Given the description of an element on the screen output the (x, y) to click on. 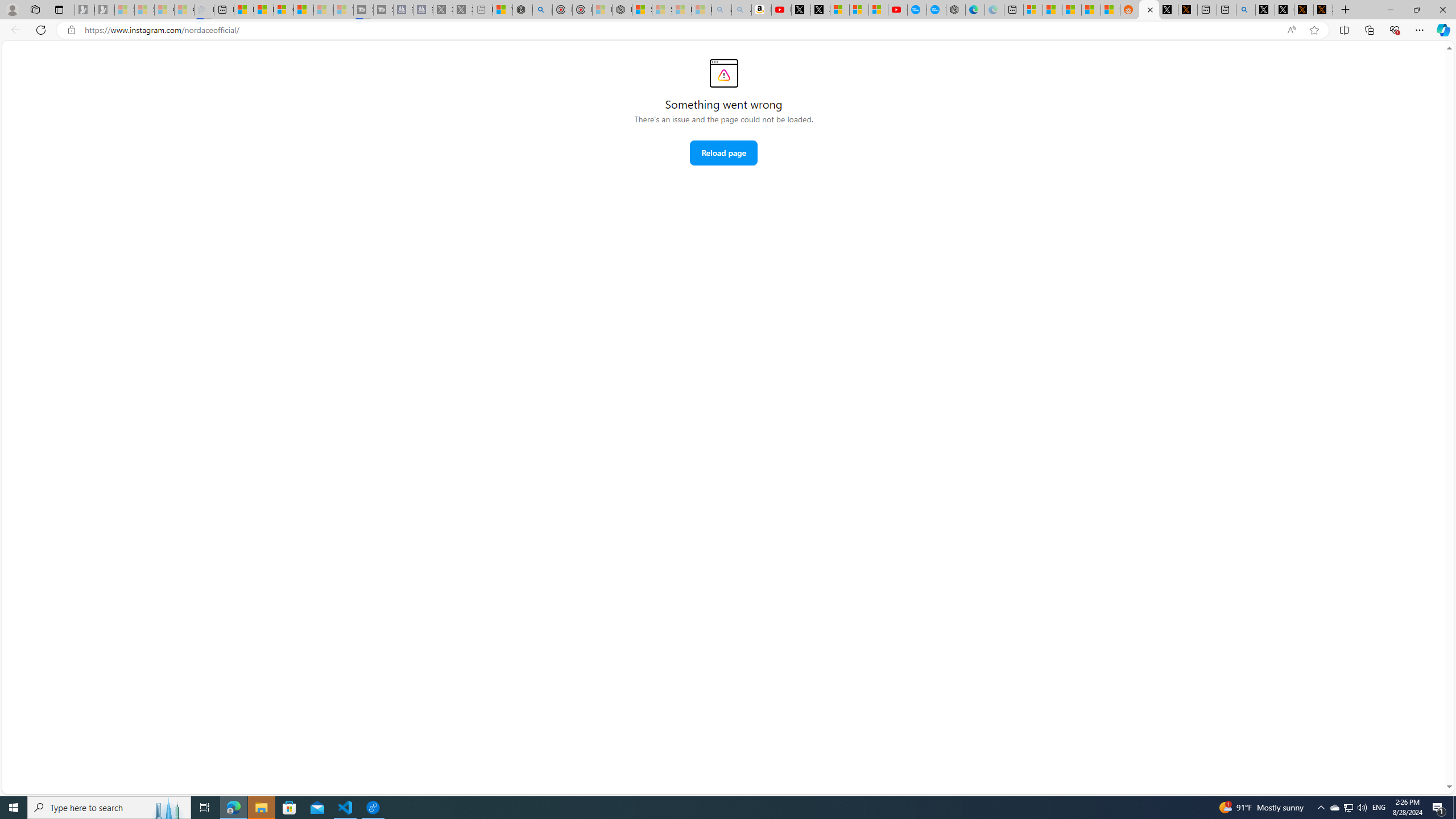
poe - Search (542, 9)
Log in to X / X (1168, 9)
github - Search (1245, 9)
Amazon Echo Dot PNG - Search Images - Sleeping (741, 9)
amazon - Search - Sleeping (721, 9)
